Given the description of an element on the screen output the (x, y) to click on. 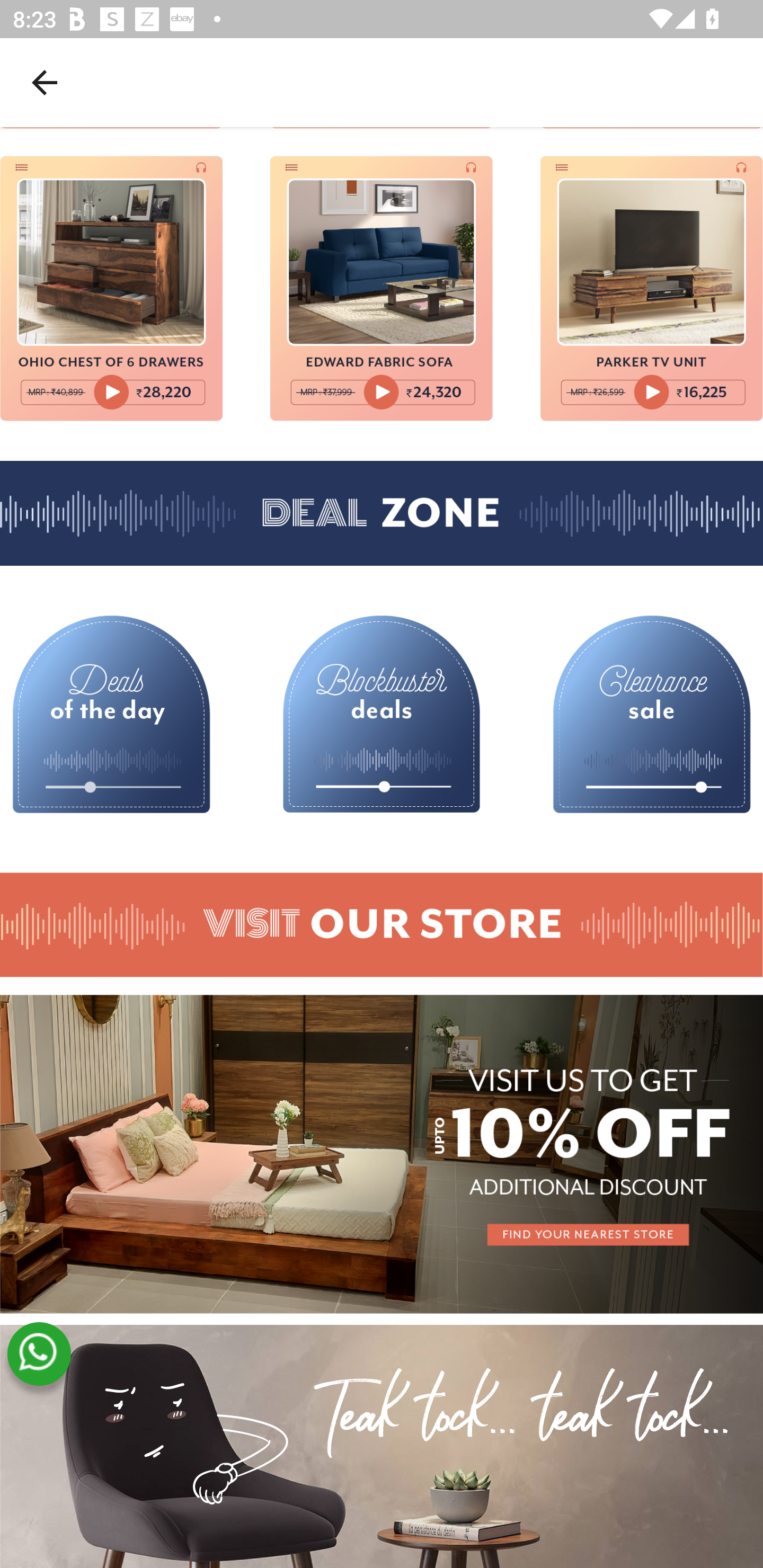
Navigate up (44, 82)
